Given the description of an element on the screen output the (x, y) to click on. 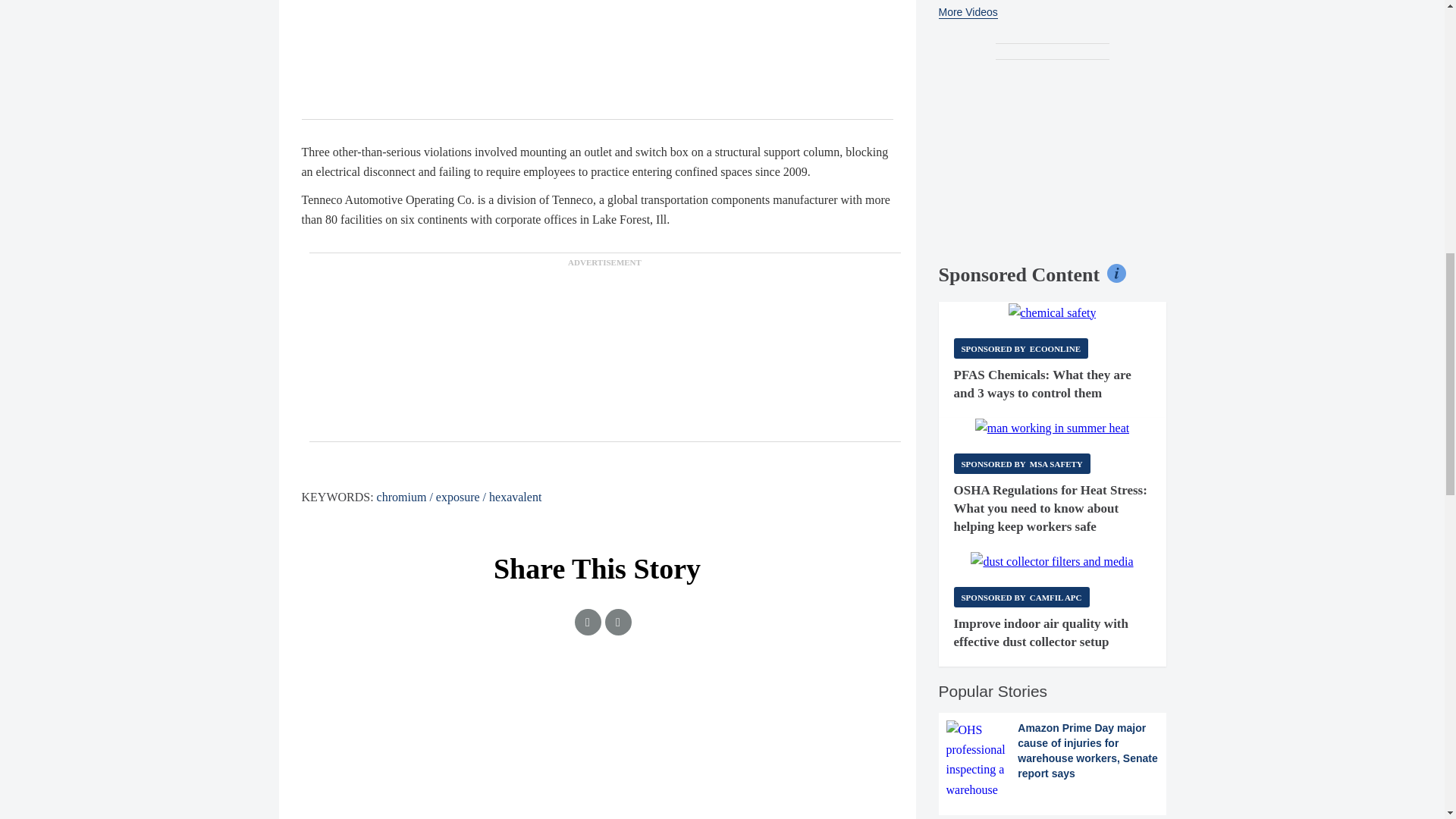
Sponsored by MSA Safety (1021, 463)
Sponsored by EcoOnline (1021, 348)
man working in summer heat (1052, 428)
Sponsored by Camfil APC (1021, 597)
dust collector filters and media (1051, 561)
chemical safety (1052, 312)
